Given the description of an element on the screen output the (x, y) to click on. 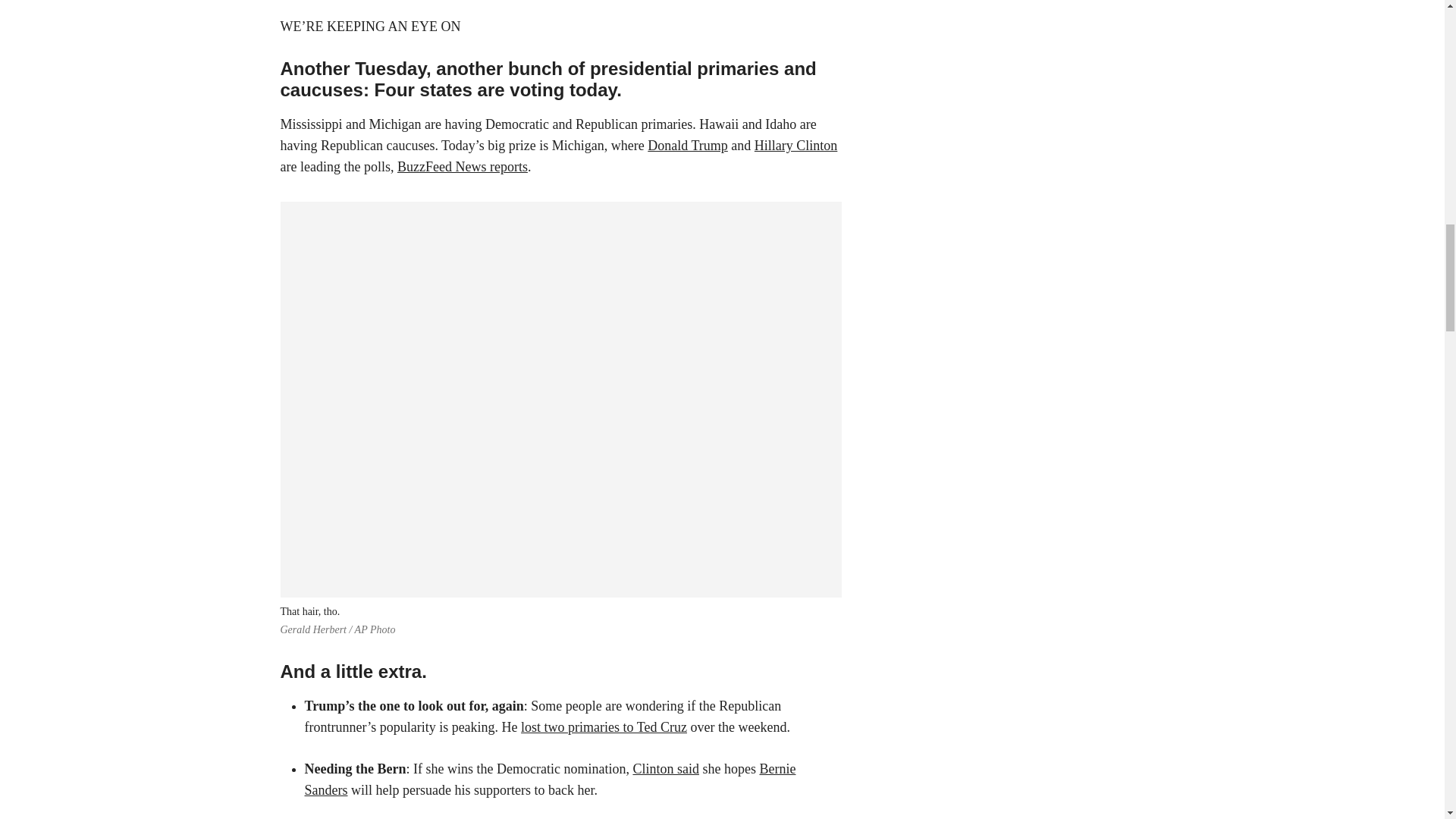
BuzzFeed News reports (462, 166)
Donald Trump (687, 145)
Hillary Clinton (796, 145)
Clinton said (664, 768)
Bernie Sanders (550, 779)
lost two primaries to Ted Cruz (604, 726)
